Given the description of an element on the screen output the (x, y) to click on. 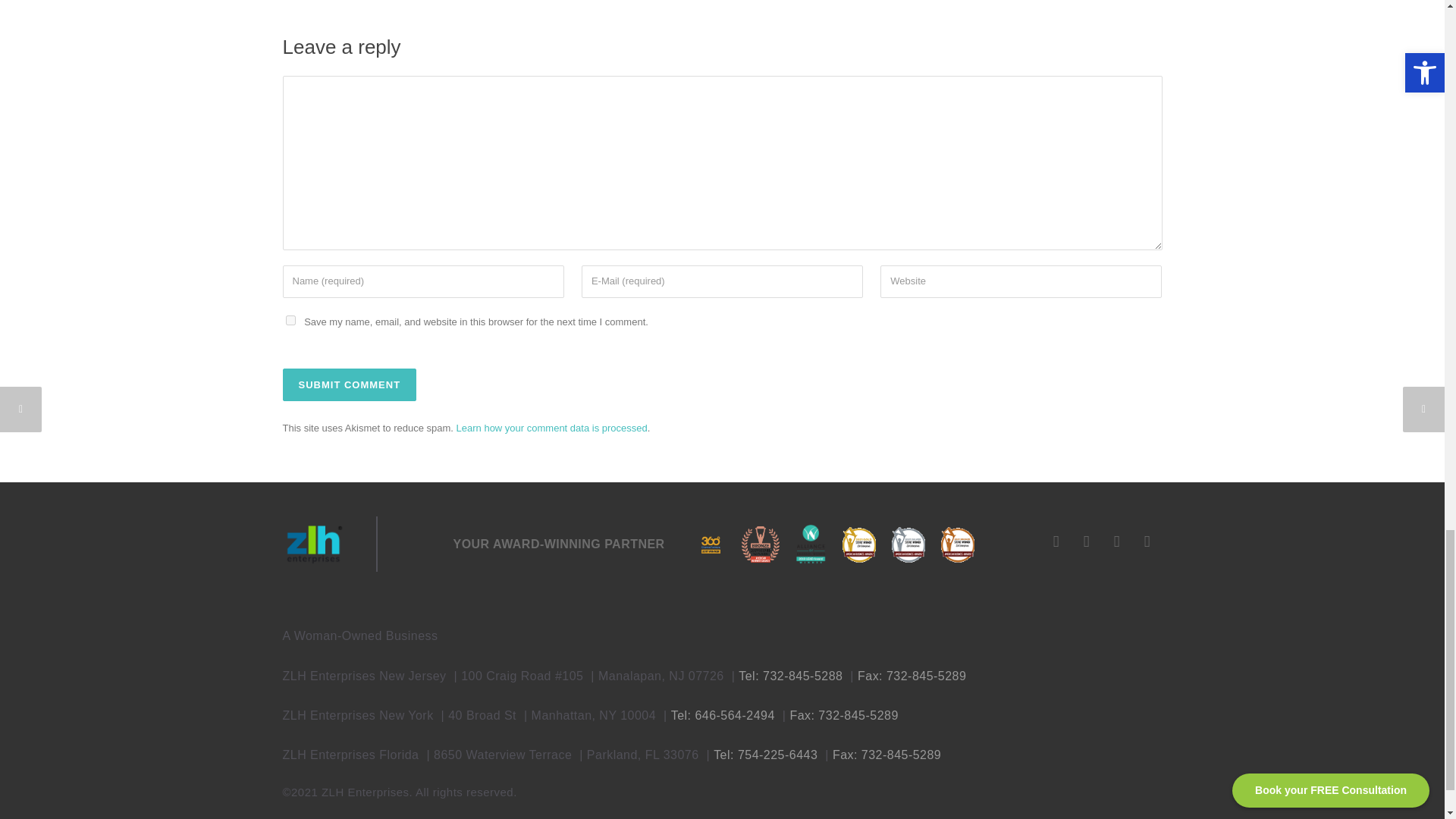
Facebook (1055, 541)
Twitter (1146, 541)
LinkedIn (1115, 541)
Website (1020, 281)
Instagram (1085, 541)
yes (290, 320)
Submit Comment (349, 384)
